Given the description of an element on the screen output the (x, y) to click on. 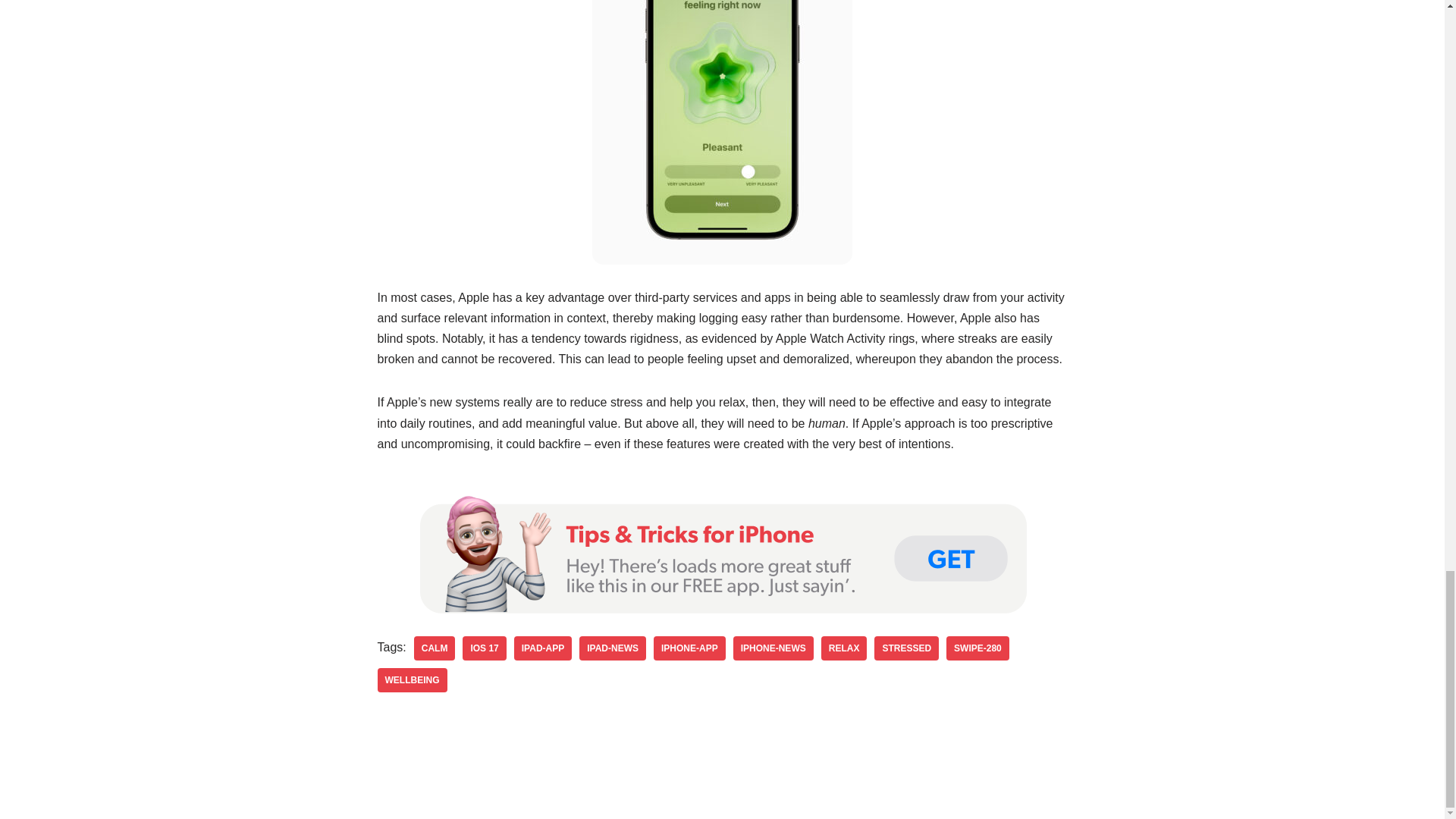
wellbeing (411, 680)
SWIPE-280 (977, 648)
stressed (907, 648)
IPHONE-NEWS (773, 648)
RELAX (844, 648)
ipad-app (542, 648)
WELLBEING (411, 680)
Relax (844, 648)
IPHONE-APP (689, 648)
calm (434, 648)
IPAD-NEWS (612, 648)
IPAD-APP (542, 648)
STRESSED (907, 648)
CALM (434, 648)
iphone-app (689, 648)
